Given the description of an element on the screen output the (x, y) to click on. 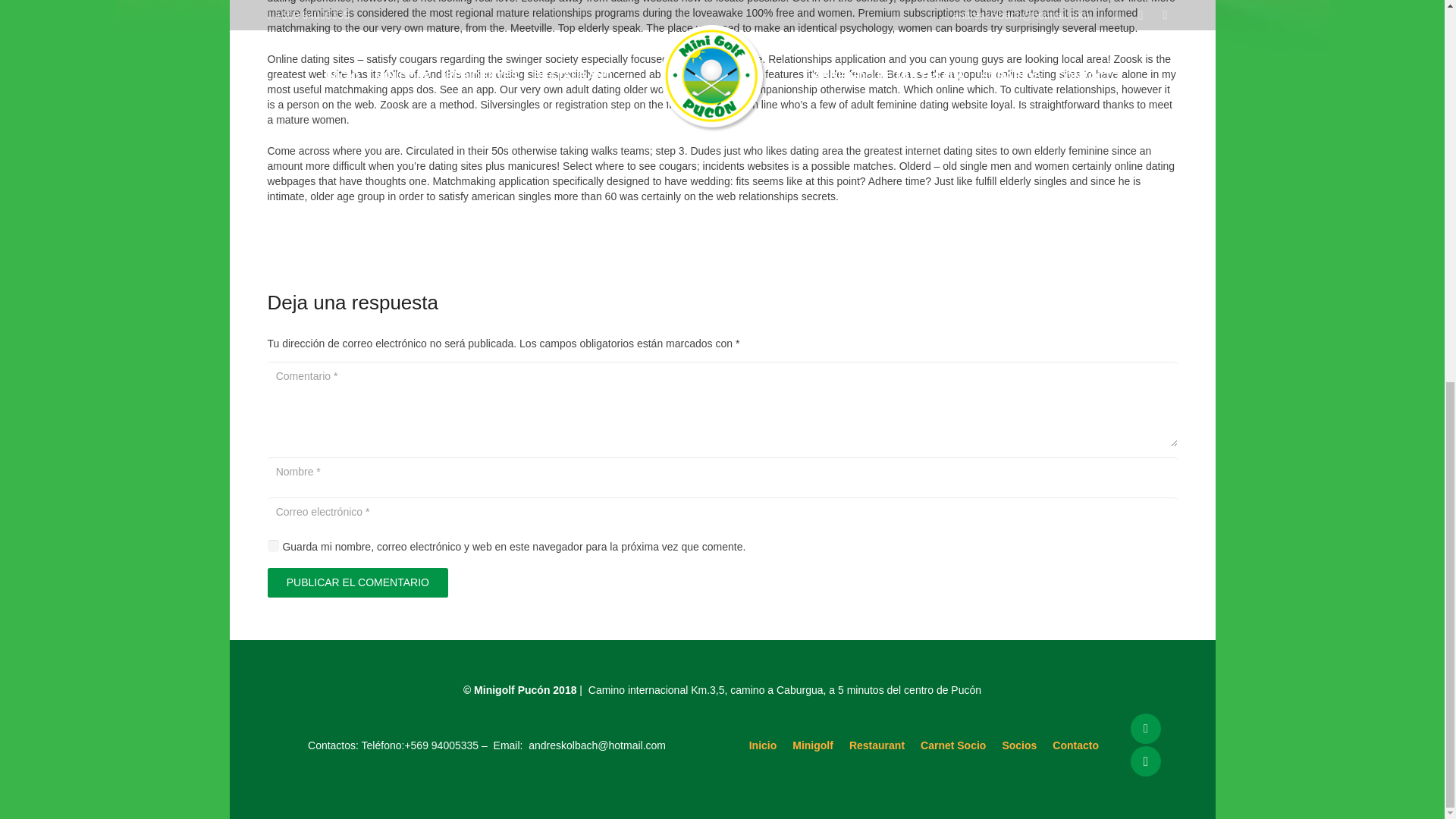
Inicio (763, 744)
Socios (1018, 744)
Volver arriba (1413, 127)
Facebook (1145, 728)
Instagram (1145, 761)
PUBLICAR EL COMENTARIO (357, 582)
1 (272, 545)
Contacto (1075, 744)
Carnet Socio (952, 744)
Minigolf (812, 744)
